Given the description of an element on the screen output the (x, y) to click on. 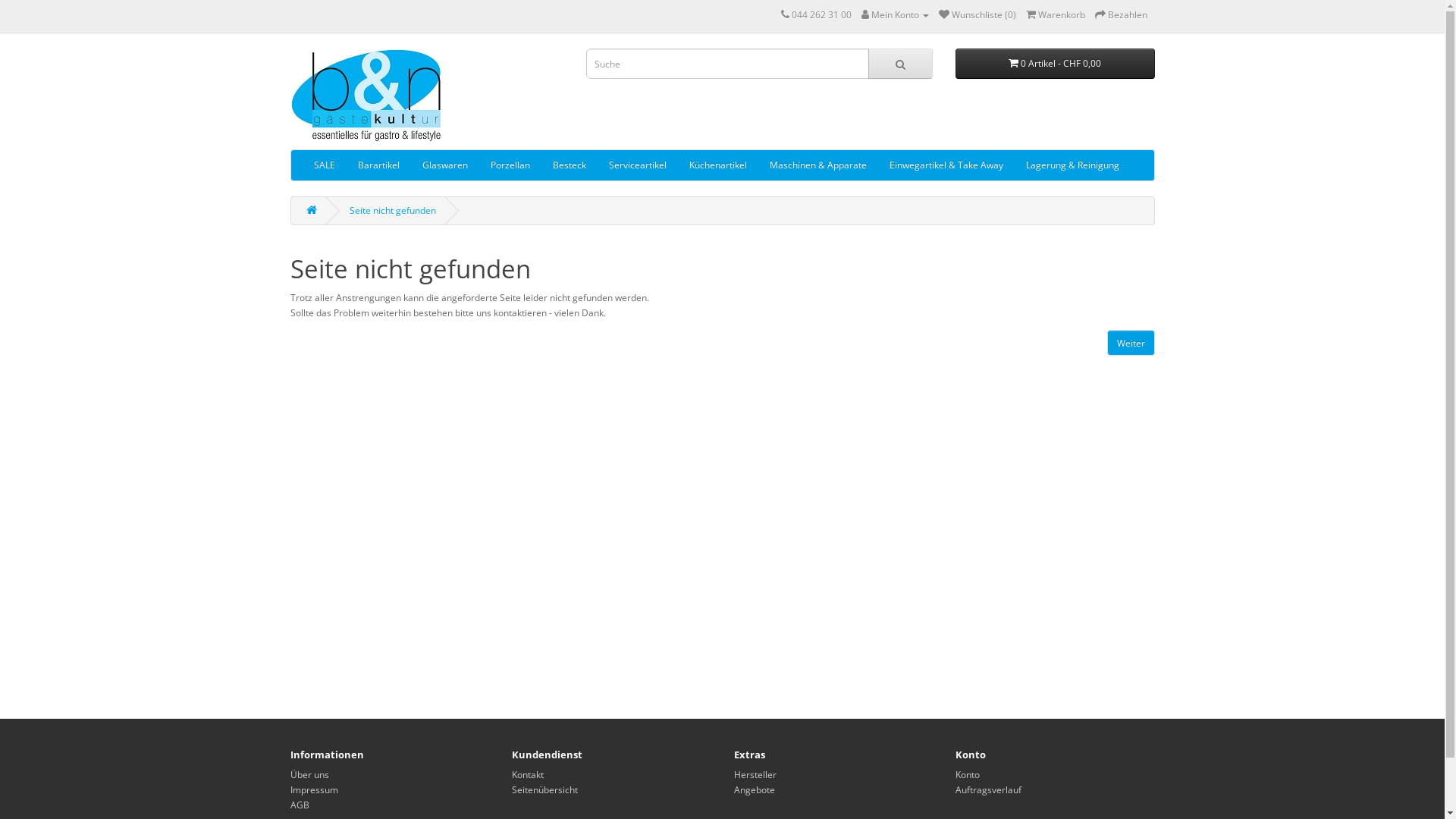
Angebote Element type: text (754, 789)
Porzellan Element type: text (510, 165)
Kontakt Element type: text (527, 774)
Besteck Element type: text (569, 165)
0 Artikel - CHF 0,00 Element type: text (1054, 63)
Serviceartikel Element type: text (637, 165)
Barartikel Element type: text (377, 165)
Auftragsverlauf Element type: text (988, 789)
Hersteller Element type: text (755, 774)
Einwegartikel & Take Away Element type: text (946, 165)
Weiter Element type: text (1130, 342)
Warenkorb Element type: text (1054, 14)
SALE Element type: text (323, 165)
Lagerung & Reinigung Element type: text (1072, 165)
Seite nicht gefunden Element type: text (391, 209)
Glaswaren Element type: text (445, 165)
Konto Element type: text (967, 774)
Wunschliste (0) Element type: text (977, 14)
Mein Konto Element type: text (894, 14)
b&n service ag Element type: hover (365, 94)
Impressum Element type: text (313, 789)
AGB Element type: text (298, 804)
Bezahlen Element type: text (1121, 14)
Maschinen & Apparate Element type: text (818, 165)
